Given the description of an element on the screen output the (x, y) to click on. 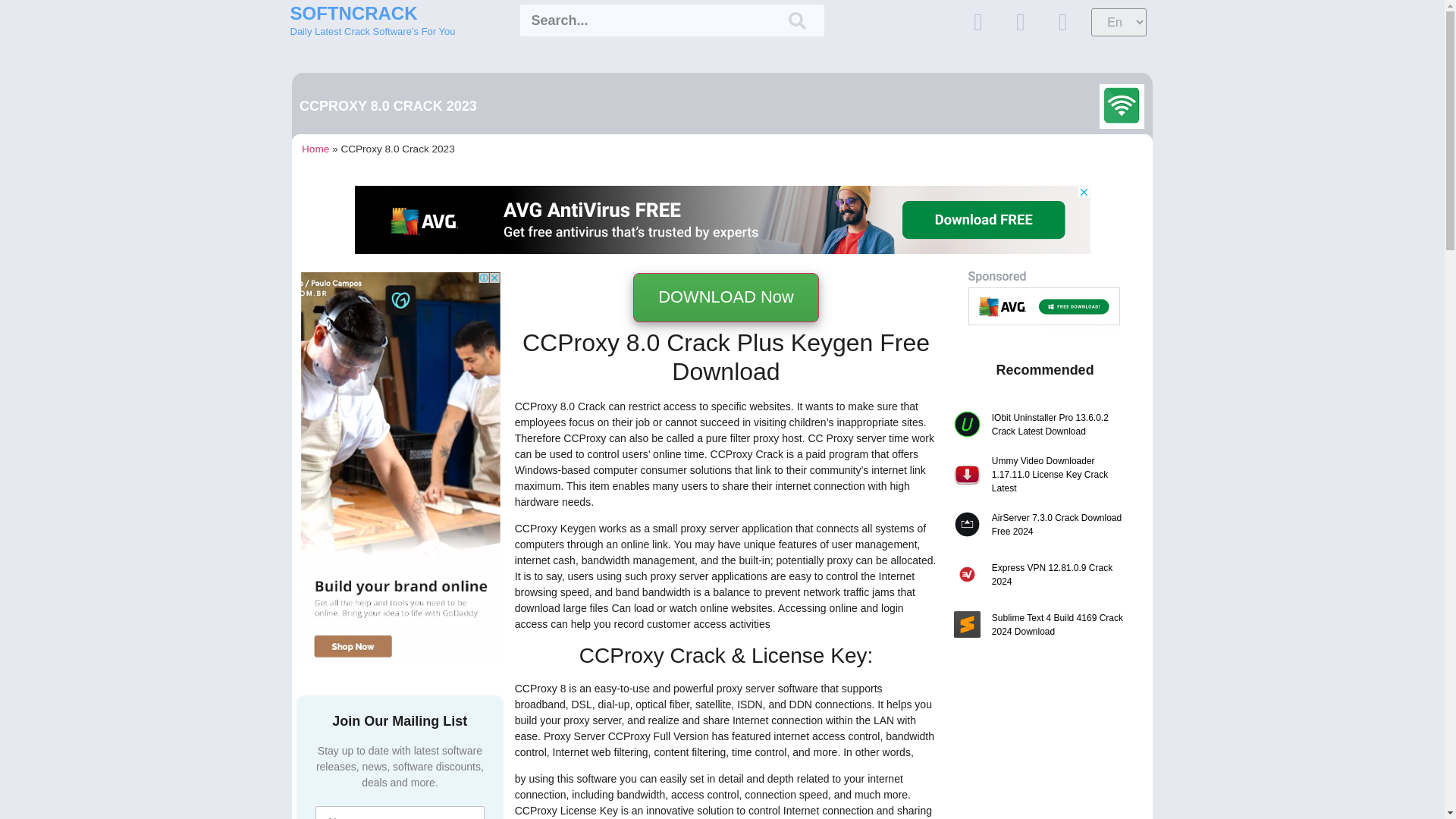
AirServer 7.3.0 Crack Download Free 2024 (1060, 524)
SOFTNCRACK (352, 13)
IObit Uninstaller Pro 13.6.0.2 Crack Latest Download (1060, 424)
Ummy Video Downloader 1.17.11.0 License Key Crack Latest (1060, 474)
